Given the description of an element on the screen output the (x, y) to click on. 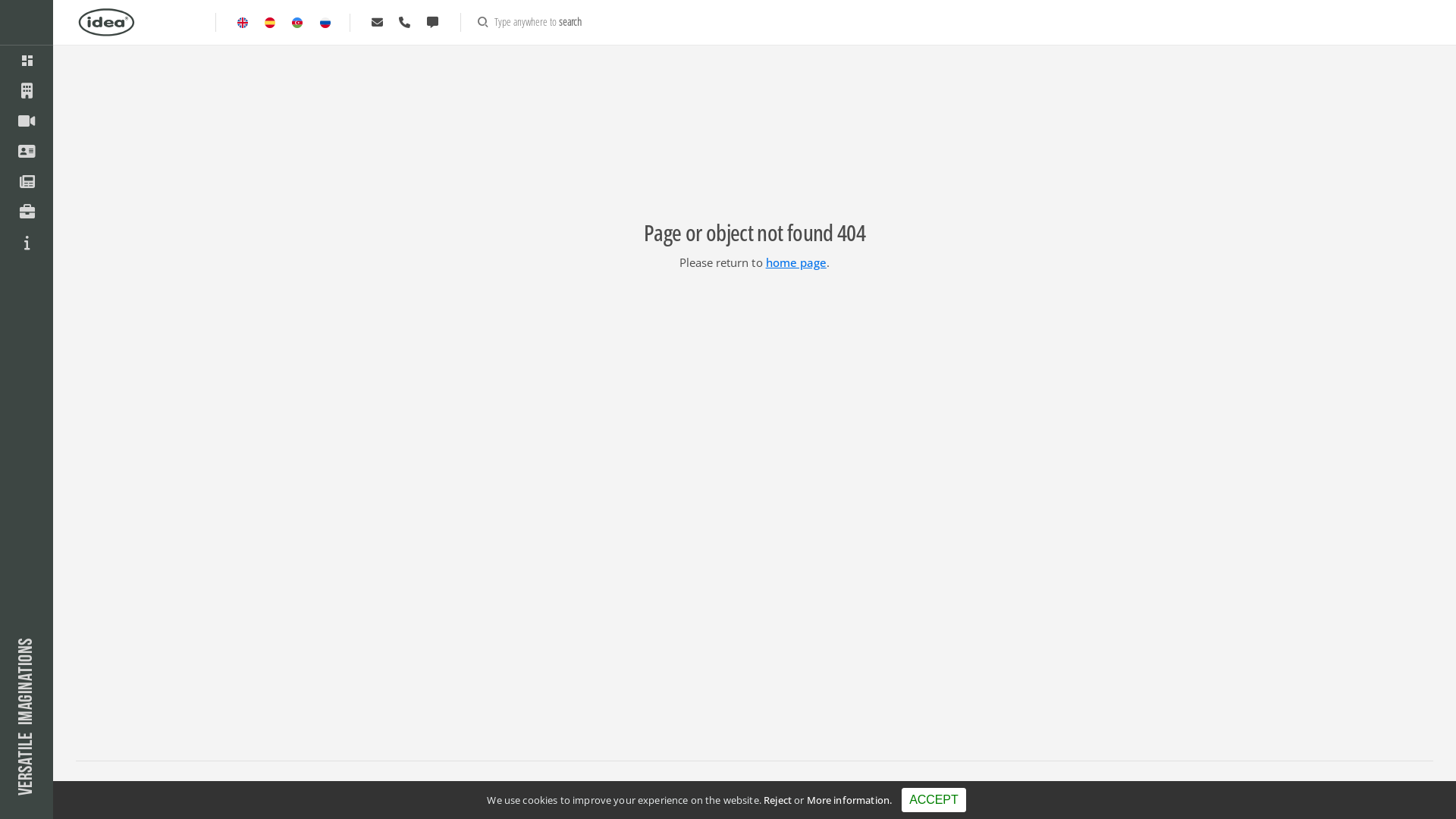
Reject Element type: text (777, 799)
ACCEPT Element type: text (933, 799)
searchType anywhere to search Element type: text (528, 22)
More information. Element type: text (849, 799)
home page Element type: text (795, 261)
Cookies policy Element type: text (386, 786)
Legal notice and Privacy policy Element type: text (285, 786)
Website developed by OUNTI Element type: text (118, 800)
